Given the description of an element on the screen output the (x, y) to click on. 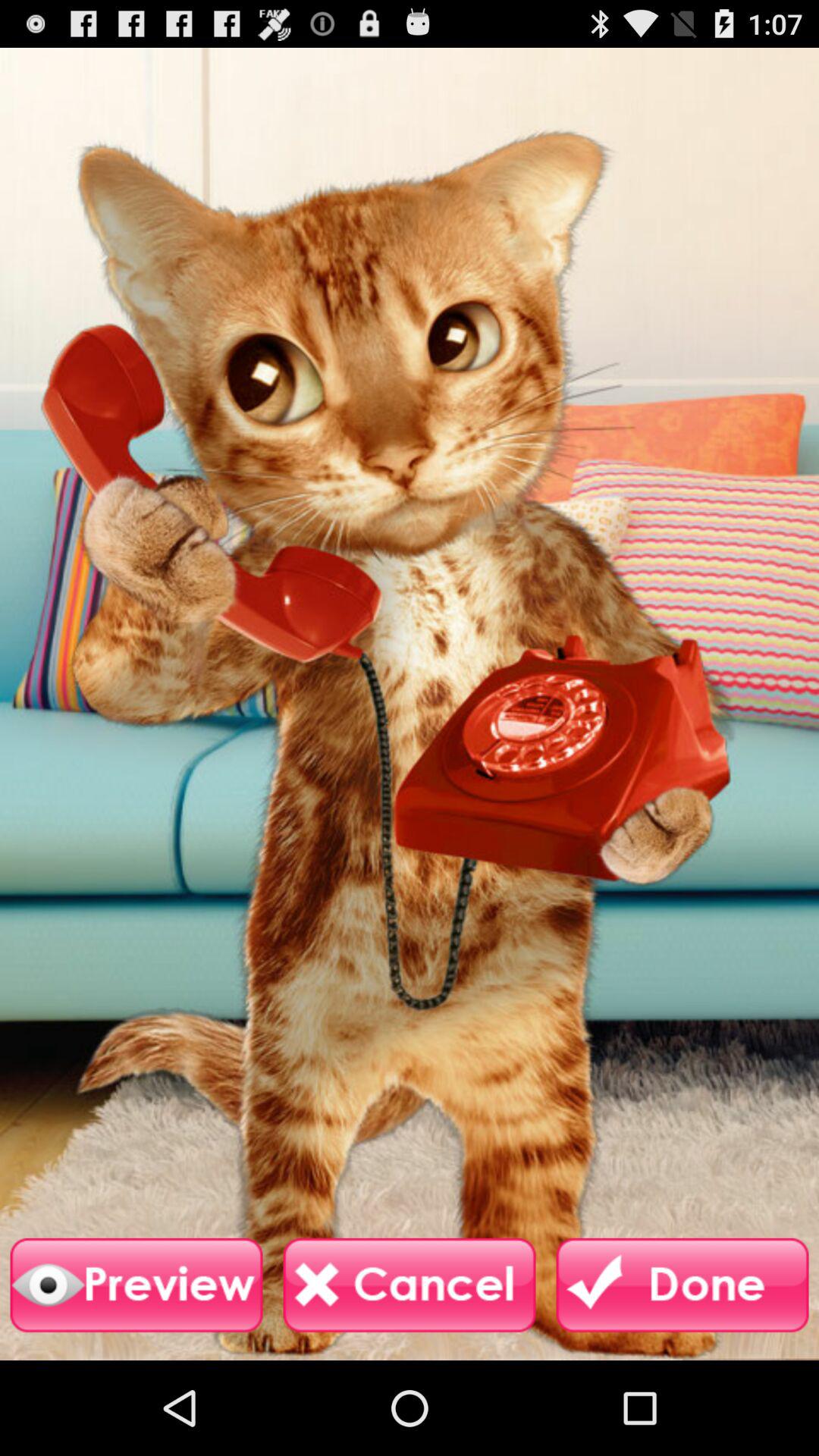
go to preview mode (136, 1285)
